Given the description of an element on the screen output the (x, y) to click on. 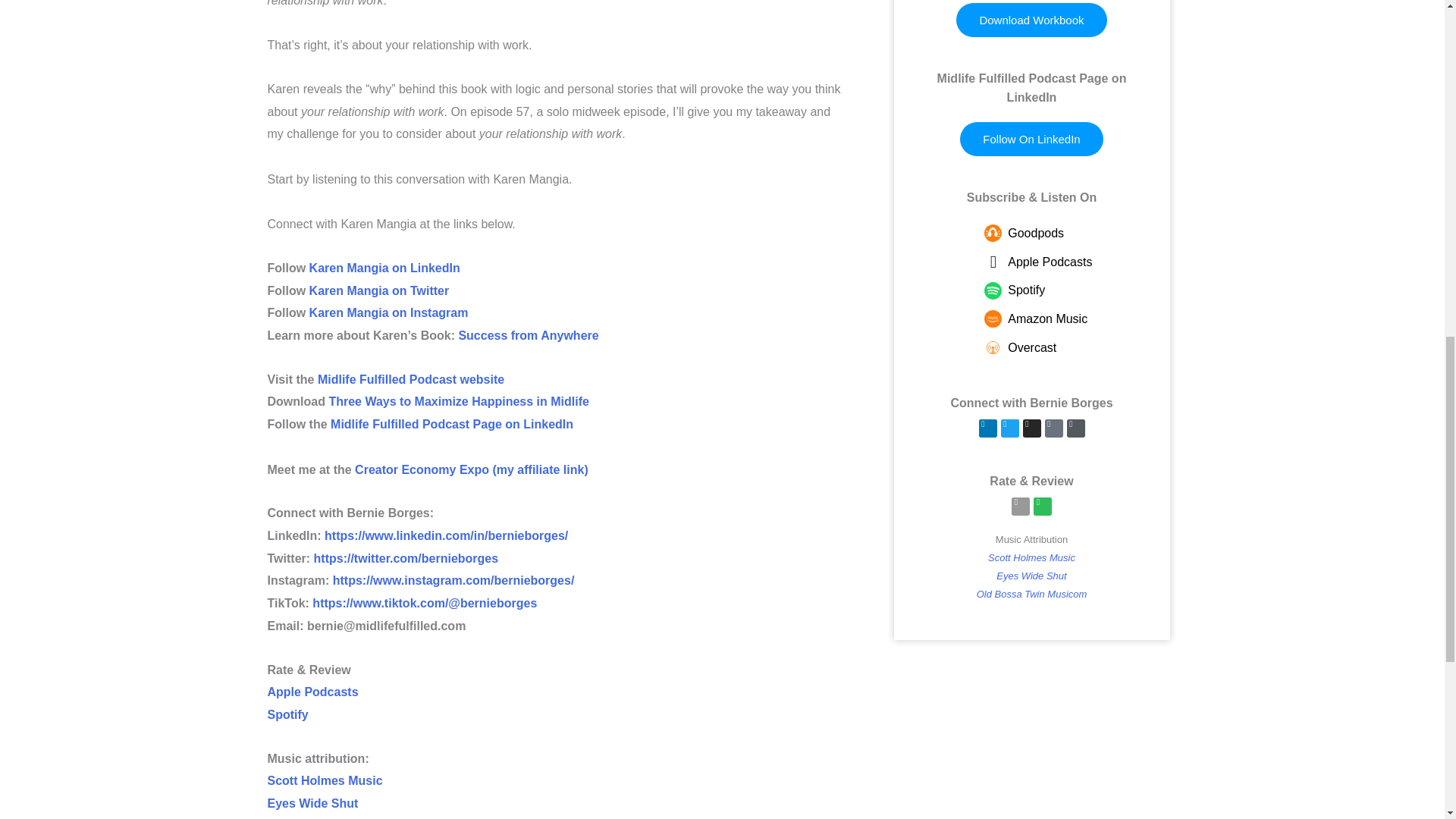
Scott Holmes Music (323, 780)
Karen Mangia on Instagram (388, 312)
Follow On LinkedIn (1030, 139)
Eyes Wide Shut (312, 802)
Spotify (1066, 290)
Success from Anywhere (528, 335)
Overcast (1066, 347)
Apple Podcasts (1066, 261)
Spotify (286, 714)
Karen Mangia on LinkedIn (384, 267)
Midlife Fulfilled Podcast website (410, 379)
Amazon Music (1066, 318)
Midlife Fulfilled Podcast Page on LinkedIn (451, 423)
Download Workbook (1031, 19)
Apple Podcasts (312, 691)
